Given the description of an element on the screen output the (x, y) to click on. 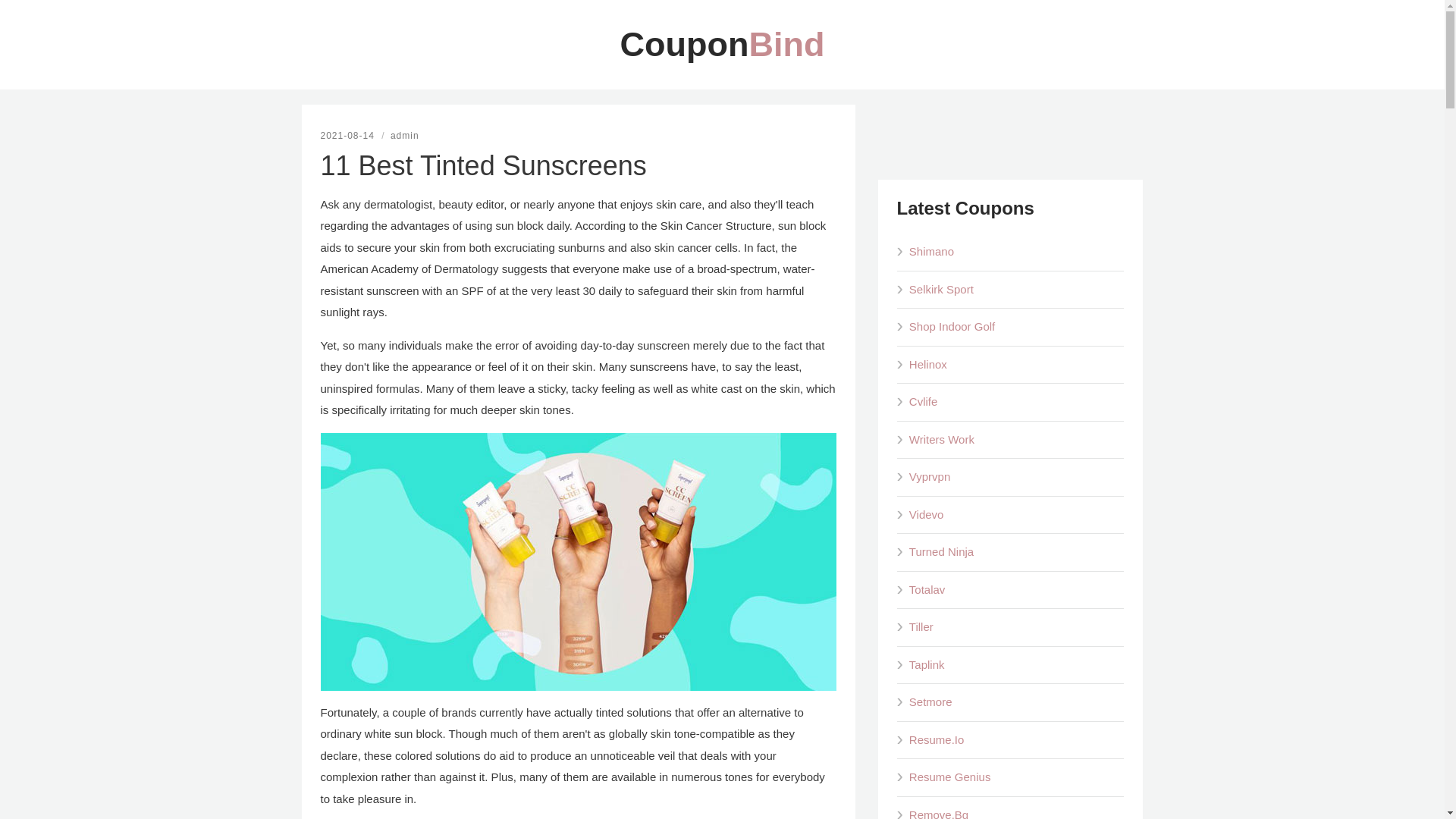
CouponBind (722, 44)
Writers Work (1016, 440)
Advertisement (1009, 138)
Shimano (1016, 251)
Selkirk Sport (1016, 290)
Vyprvpn (1016, 477)
Helinox (1016, 364)
Shimano (1016, 251)
2021-08-14 (348, 135)
Selkirk Sport (1016, 290)
admin (404, 135)
Shop Indoor Golf (1016, 327)
Cvlife (1016, 402)
Shop Indoor Golf (1016, 327)
